Given the description of an element on the screen output the (x, y) to click on. 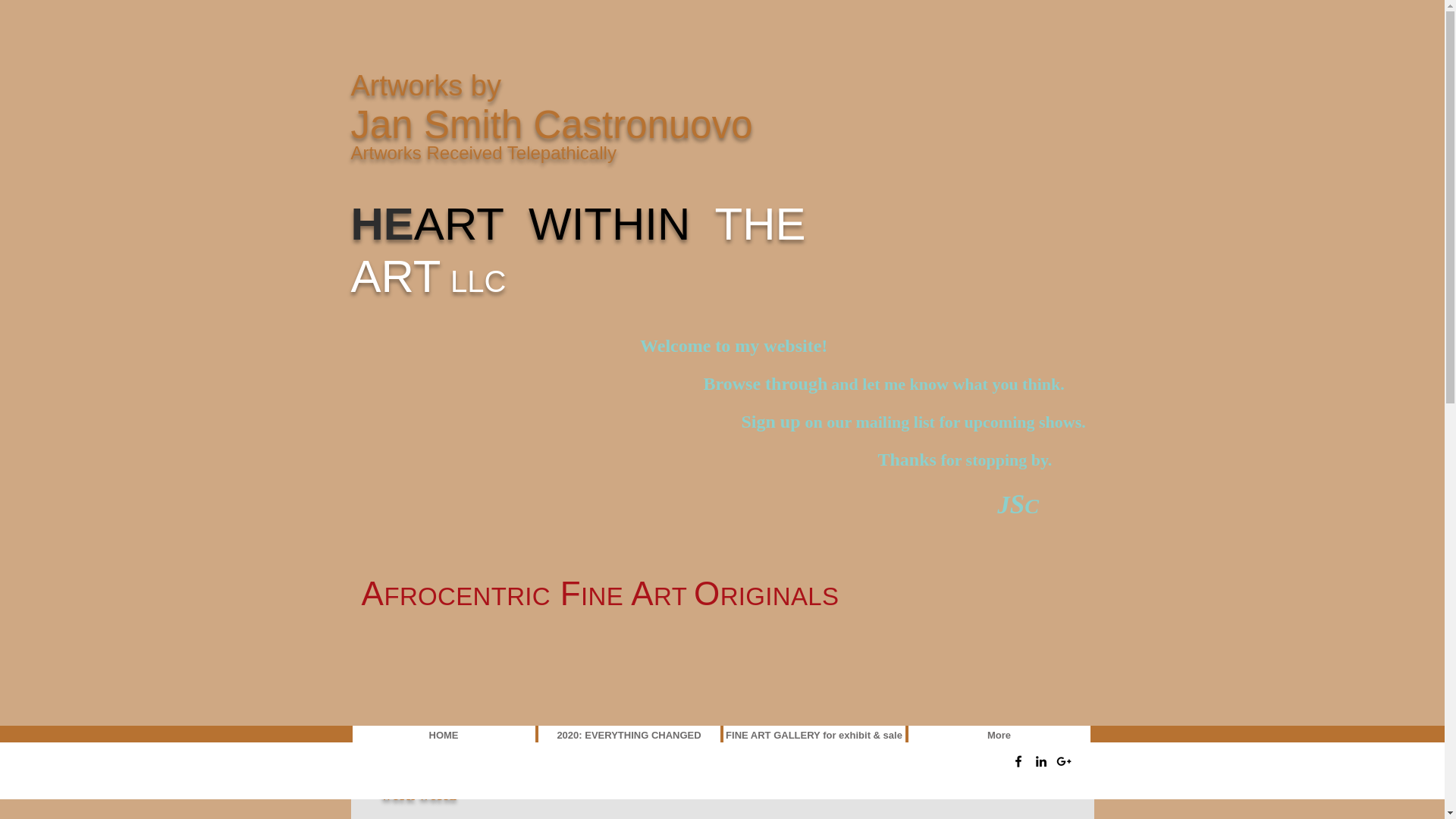
2020: EVERYTHING CHANGED (629, 734)
HOME (443, 734)
